Given the description of an element on the screen output the (x, y) to click on. 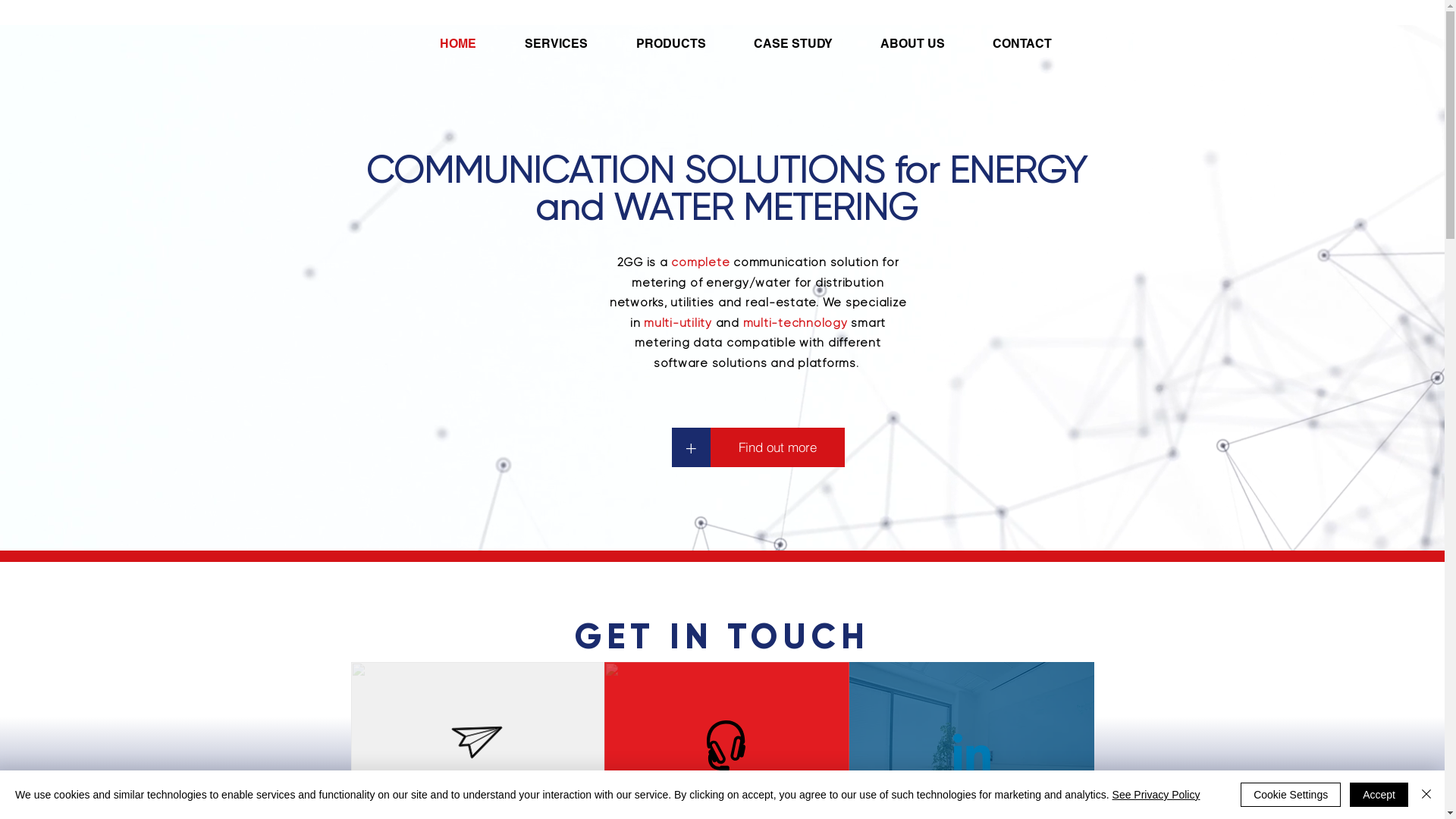
+ Element type: text (691, 447)
Find out more Element type: text (776, 447)
Accept Element type: text (1378, 794)
CONTACT Element type: text (1034, 43)
info@dsmeritve.si Element type: text (476, 788)
See Privacy Policy Element type: text (1156, 794)
SERVICES Element type: text (568, 43)
support@dsmeritve.si Element type: text (725, 789)
Cookie Settings Element type: text (1290, 794)
HOME Element type: text (469, 43)
CASE STUDY Element type: text (804, 43)
ABOUT US Element type: text (925, 43)
PRODUCTS Element type: text (683, 43)
